Given the description of an element on the screen output the (x, y) to click on. 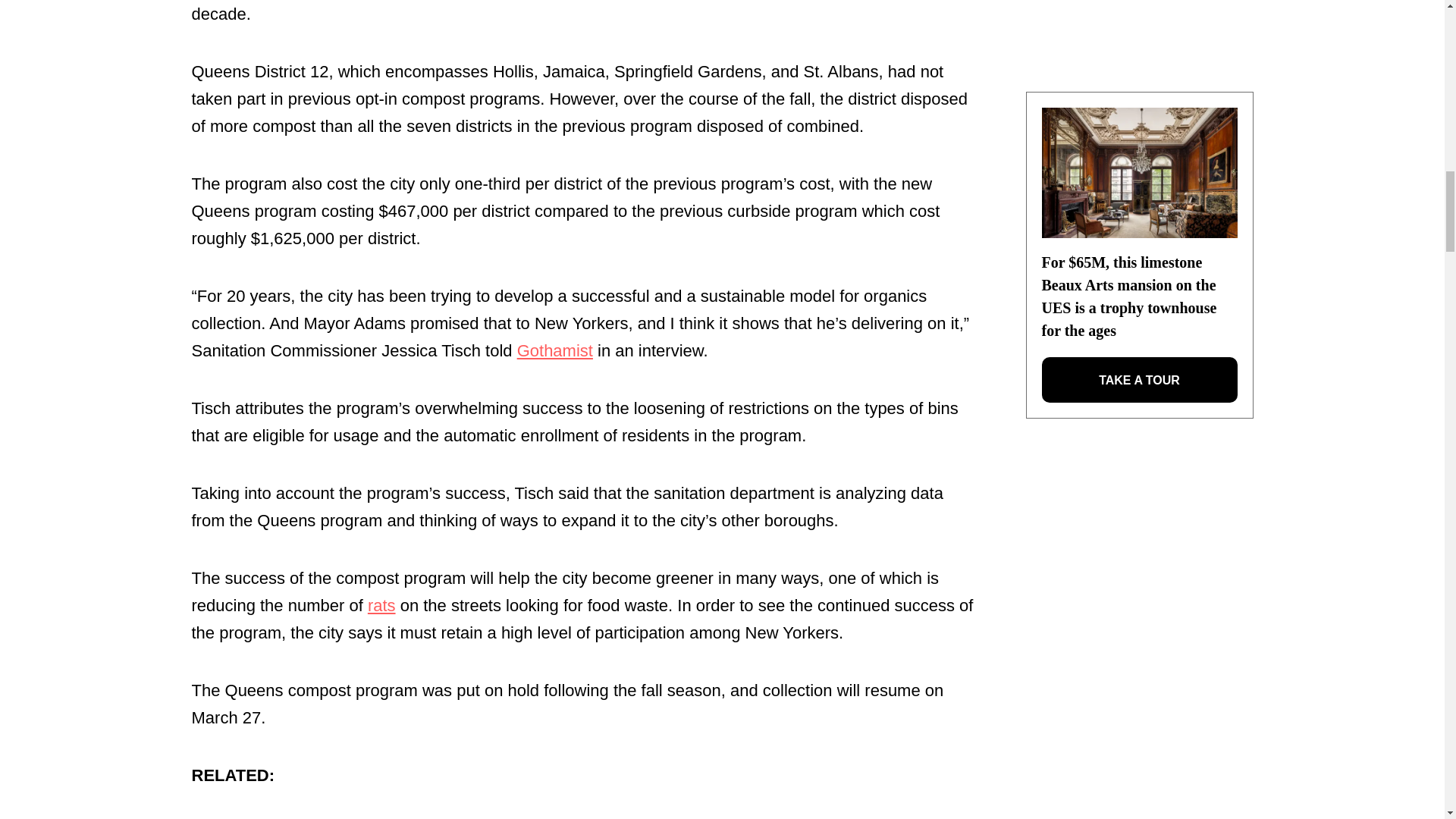
Gothamist (554, 350)
rats (382, 605)
